Given the description of an element on the screen output the (x, y) to click on. 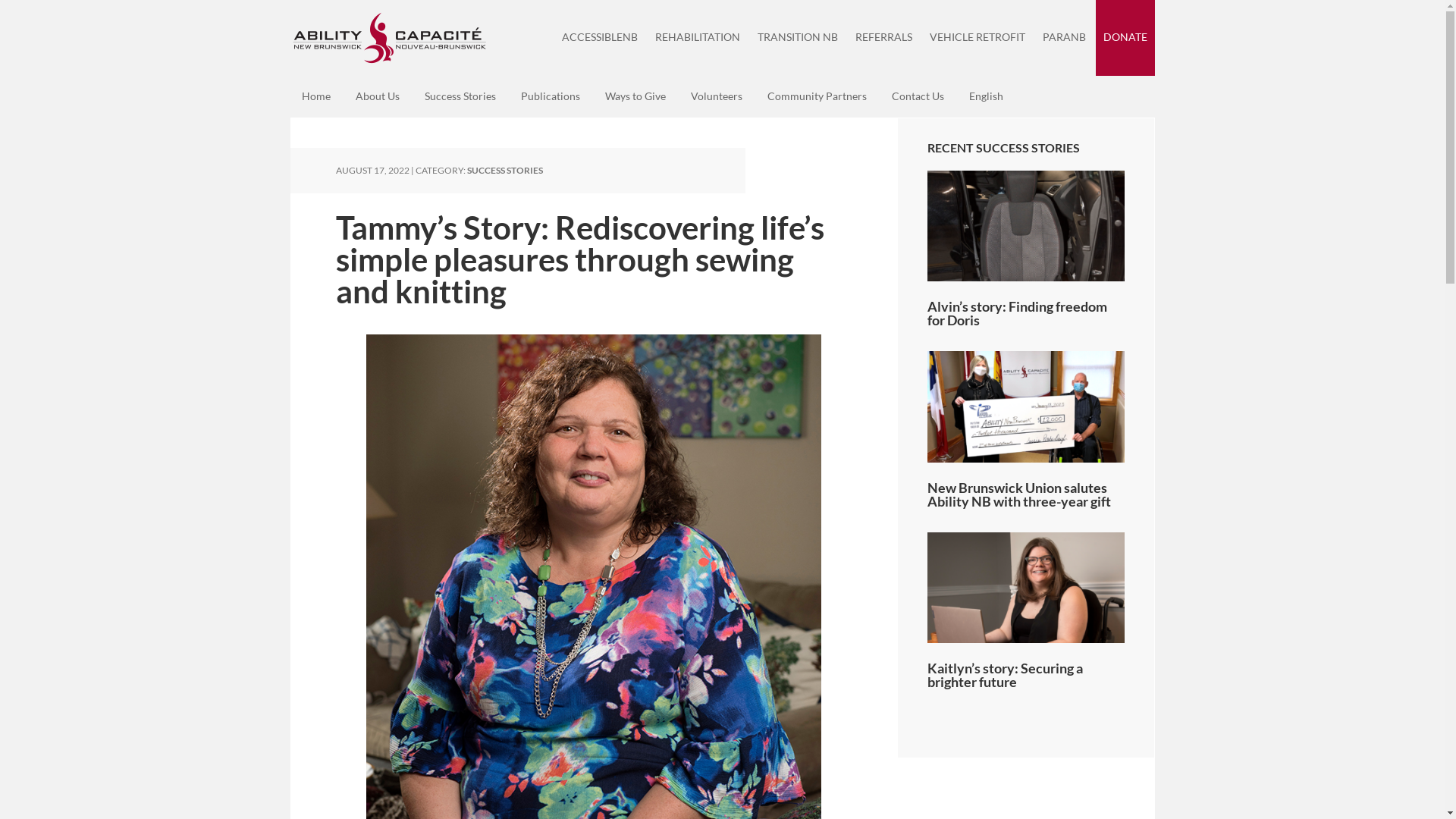
PARANB Element type: text (1063, 37)
VEHICLE RETROFIT Element type: text (977, 37)
TRANSITION NB Element type: text (796, 37)
REFERRALS Element type: text (883, 37)
Ability New Brunswick Element type: text (387, 37)
Community Partners Element type: text (816, 95)
English Element type: text (985, 95)
SUCCESS STORIES Element type: text (504, 169)
New Brunswick Union salutes Ability NB with three-year gift Element type: text (1018, 494)
DONATE Element type: text (1124, 37)
About Us Element type: text (377, 95)
REHABILITATION Element type: text (697, 37)
Ways to Give Element type: text (634, 95)
Skip to primary navigation Element type: text (289, 0)
Contact Us Element type: text (916, 95)
Home Element type: text (315, 95)
ACCESSIBLENB Element type: text (598, 37)
Publications Element type: text (550, 95)
Success Stories Element type: text (459, 95)
Volunteers Element type: text (716, 95)
